Given the description of an element on the screen output the (x, y) to click on. 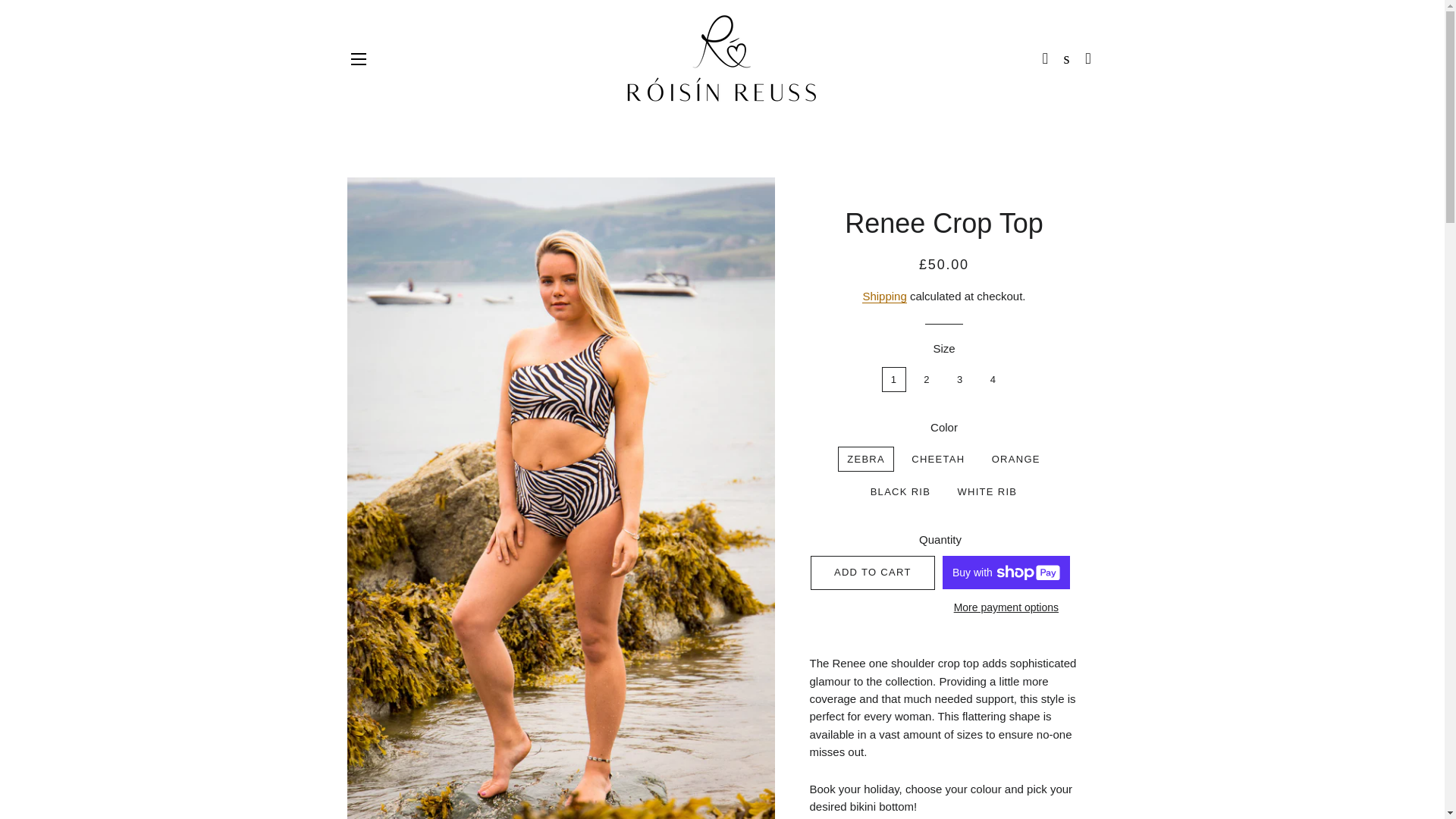
SITE NAVIGATION (358, 58)
